Given the description of an element on the screen output the (x, y) to click on. 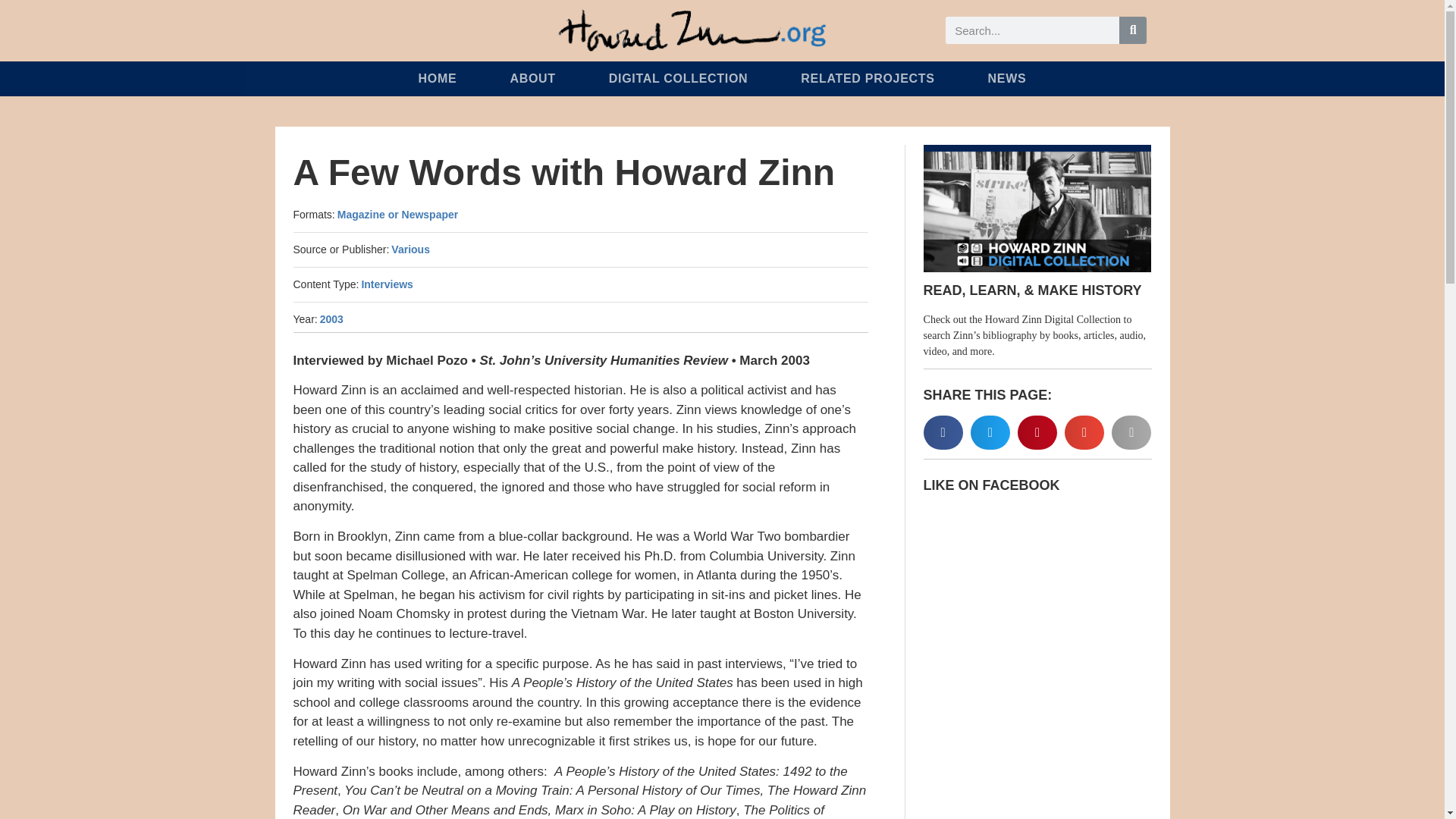
RELATED PROJECTS (866, 78)
NEWS (1007, 78)
Magazine or Newspaper (397, 214)
ABOUT (532, 78)
HOME (438, 78)
DIGITAL COLLECTION (678, 78)
